Given the description of an element on the screen output the (x, y) to click on. 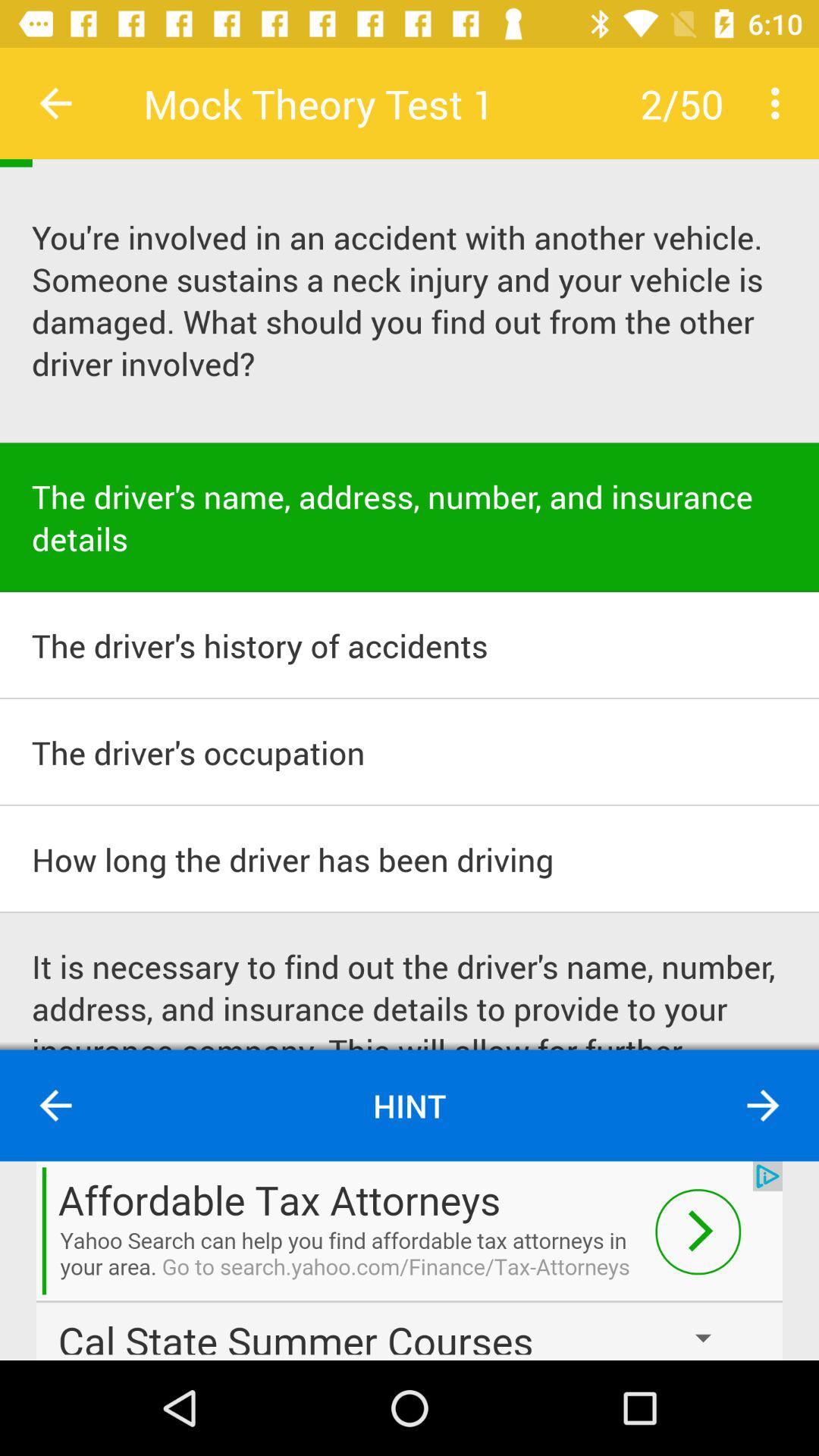
go to next (409, 1260)
